Given the description of an element on the screen output the (x, y) to click on. 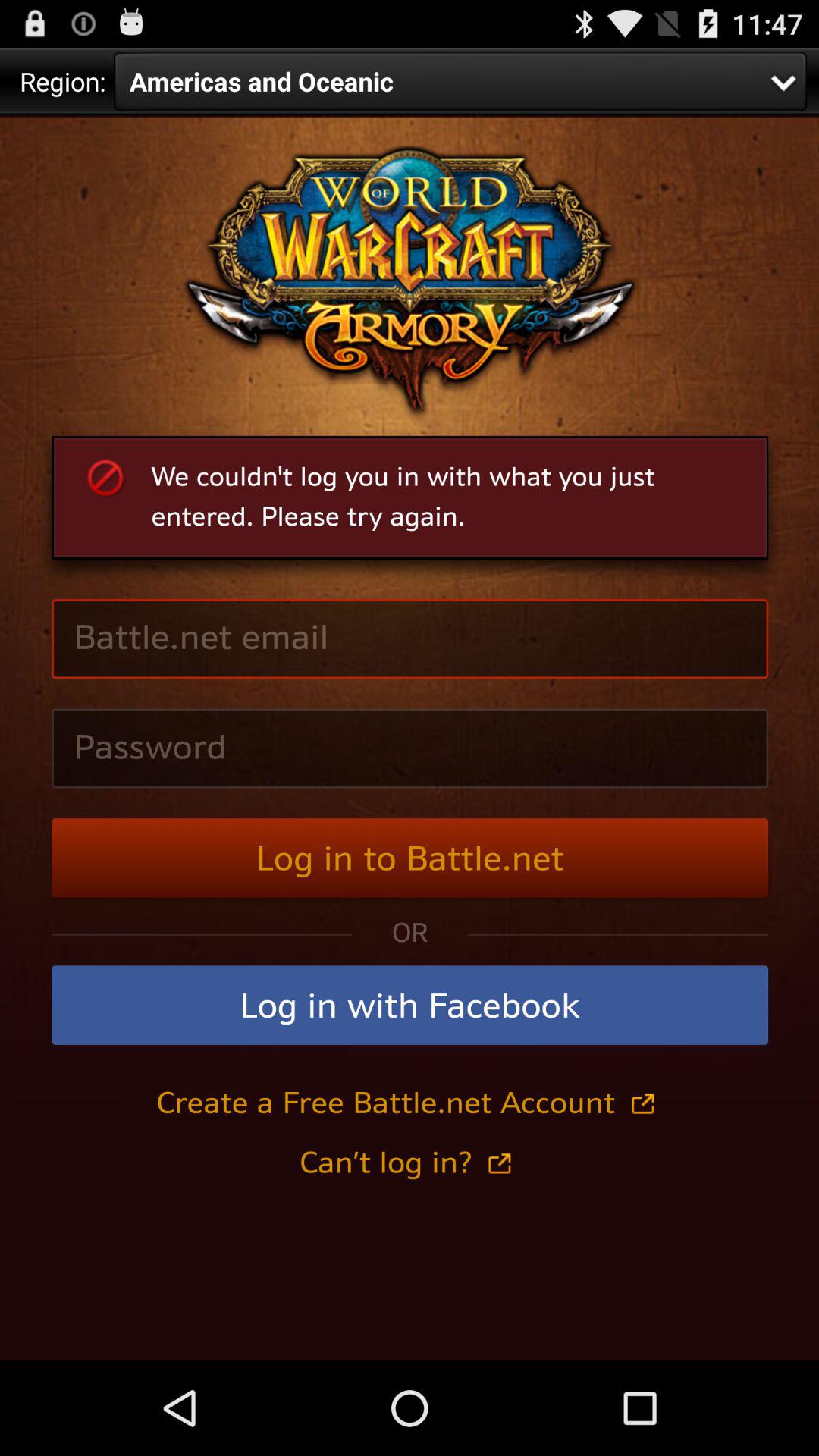
navigation area (409, 737)
